Given the description of an element on the screen output the (x, y) to click on. 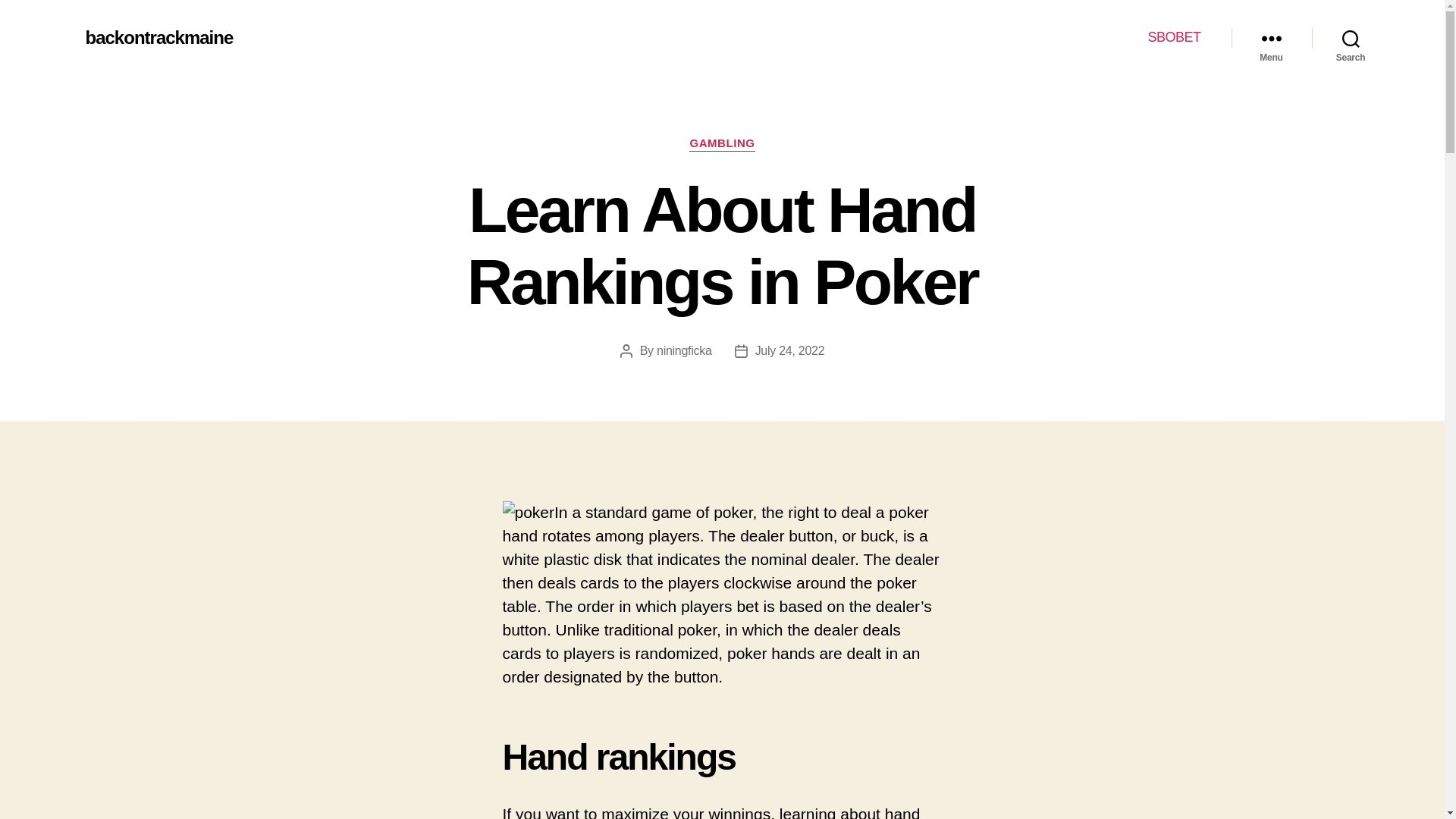
Search (1350, 37)
SBOBET (1173, 37)
Menu (1271, 37)
GAMBLING (721, 143)
July 24, 2022 (790, 350)
niningficka (683, 350)
backontrackmaine (158, 37)
